Given the description of an element on the screen output the (x, y) to click on. 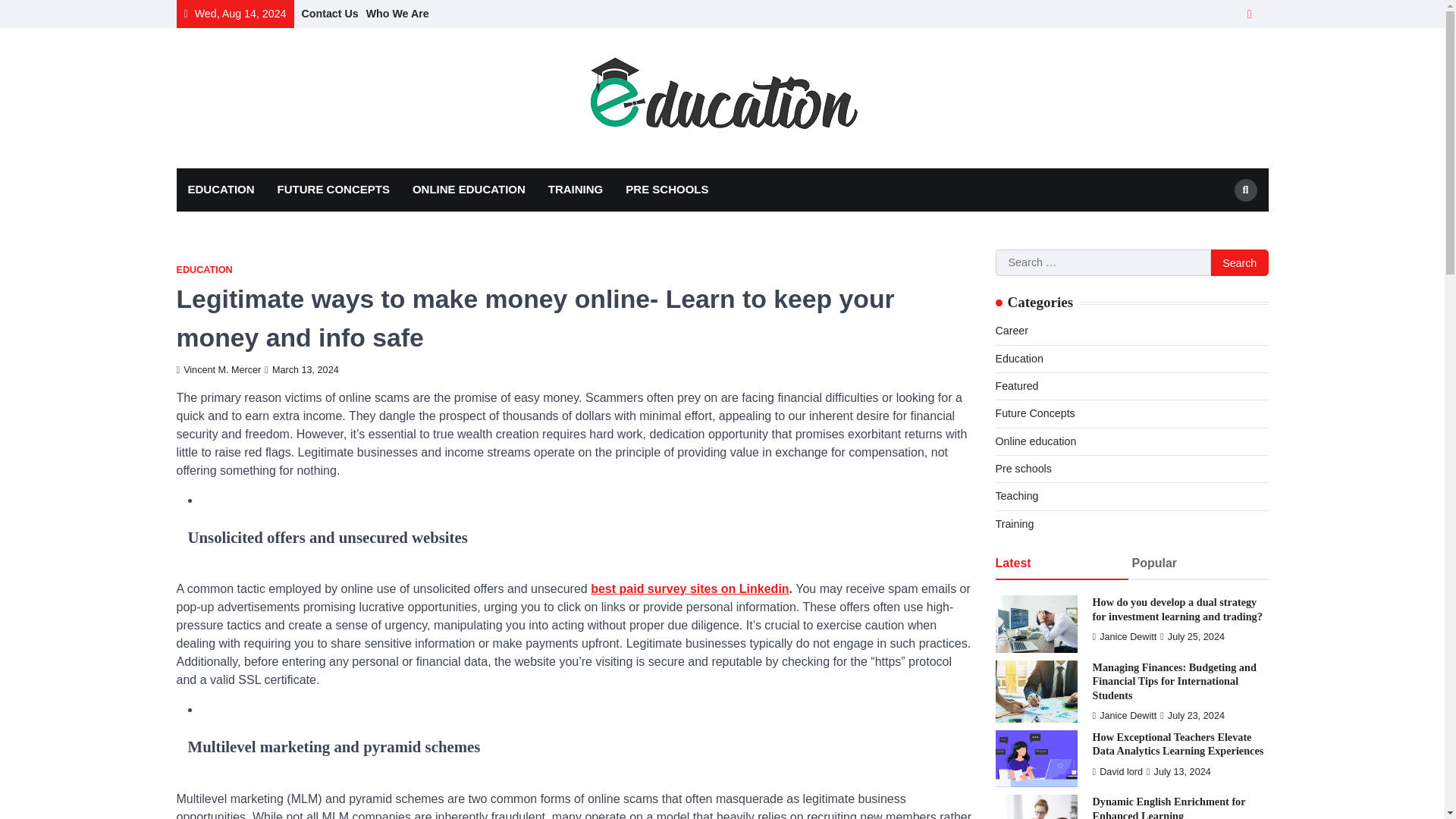
Online education (1034, 440)
Search (1217, 225)
Search (1245, 190)
TRAINING (575, 189)
Search (1239, 262)
Latest (1060, 564)
Janice Dewitt (1124, 636)
July 25, 2024 (1192, 636)
Training (1013, 523)
